Given the description of an element on the screen output the (x, y) to click on. 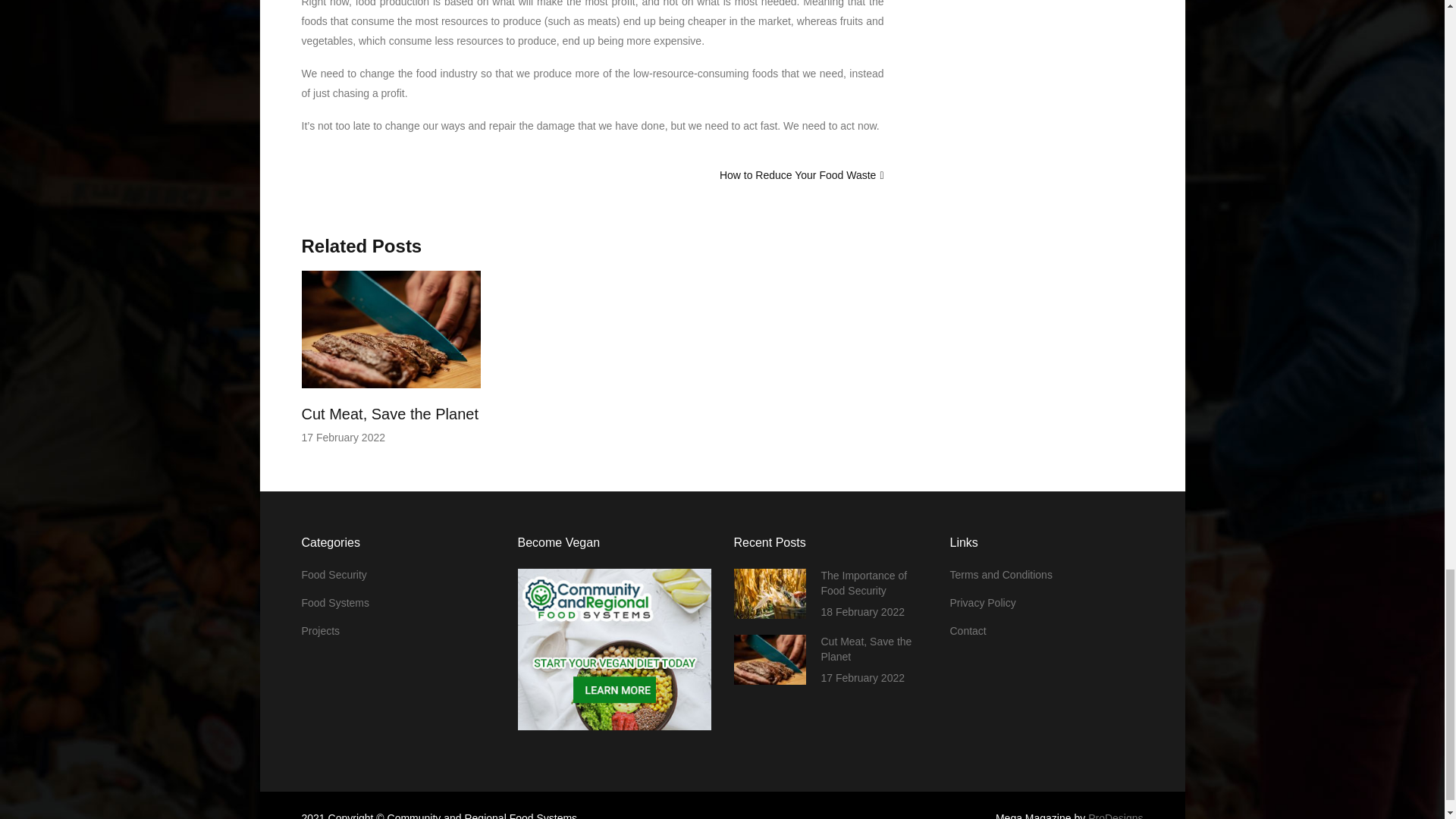
Food Systems (335, 603)
Projects (320, 630)
How to Reduce Your Food Waste (797, 174)
Cut Meat, Save the Planet (390, 413)
The Importance of Food Security (864, 583)
Food Security (333, 574)
